Given the description of an element on the screen output the (x, y) to click on. 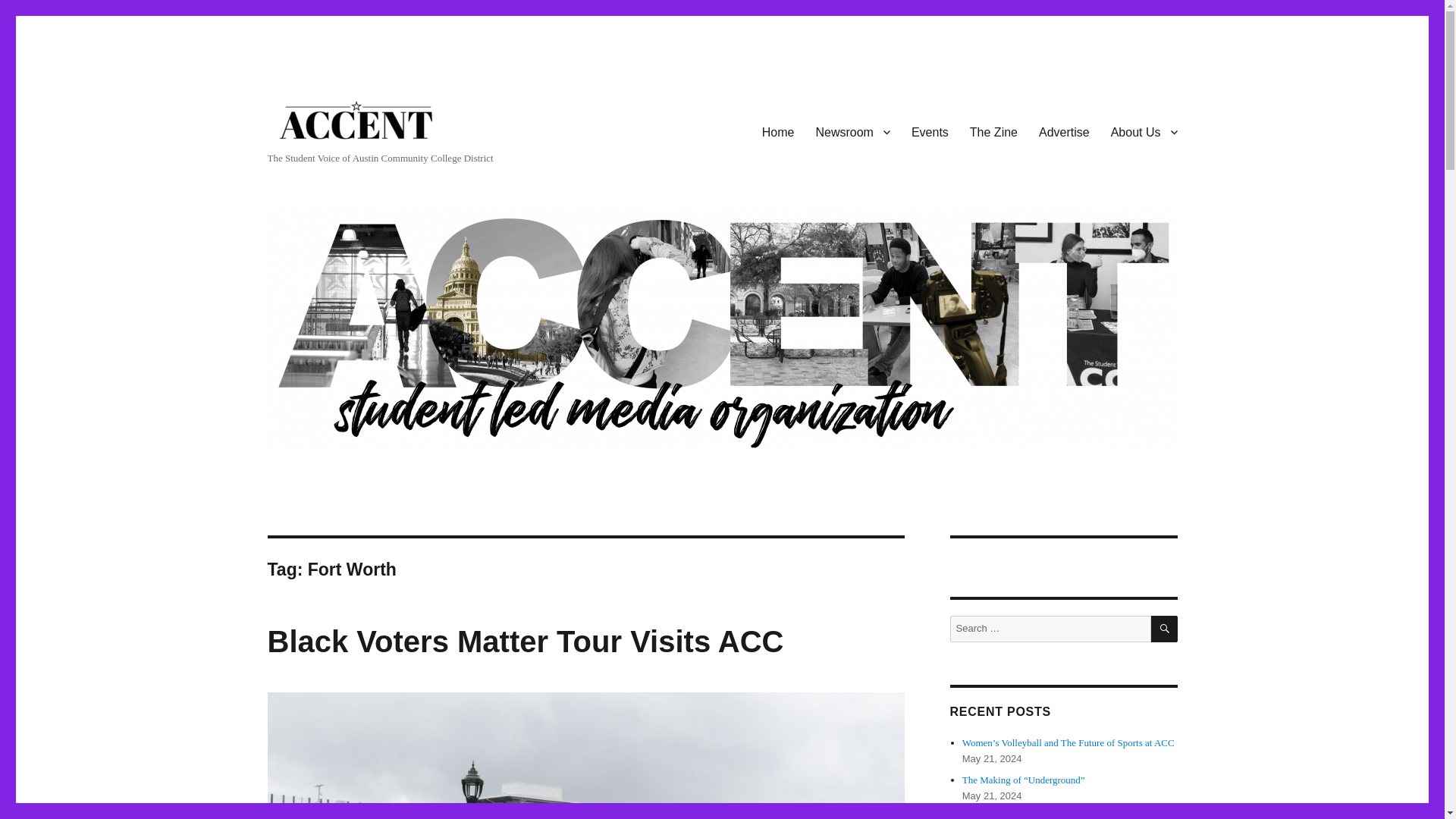
Black Voters Matter Tour Visits ACC (524, 641)
Events (930, 132)
Advertise (1063, 132)
Newsroom (852, 132)
About Us (1144, 132)
Home (778, 132)
The Zine (993, 132)
